Given the description of an element on the screen output the (x, y) to click on. 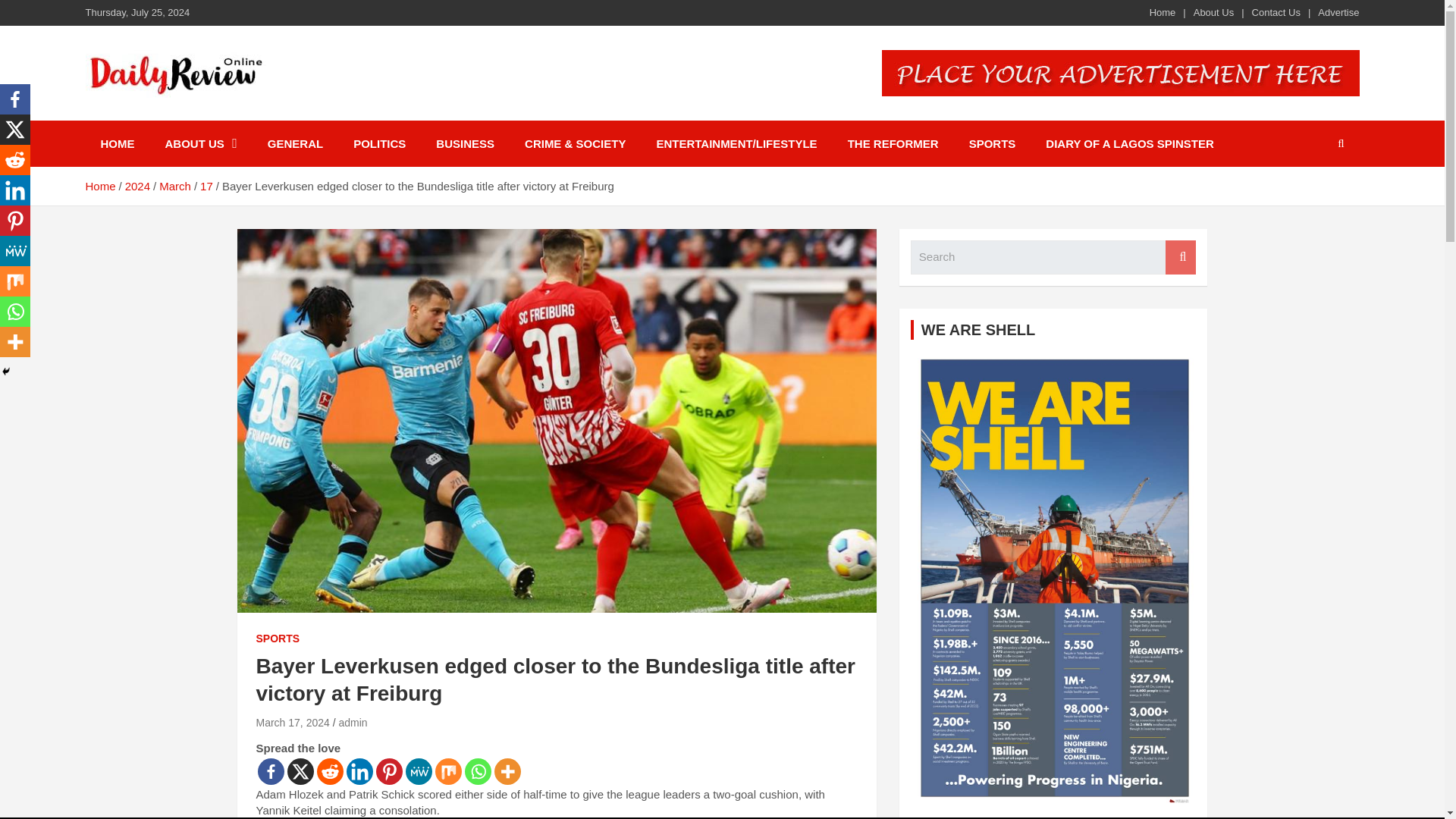
17 (206, 185)
DIARY OF A LAGOS SPINSTER (1129, 143)
GENERAL (294, 143)
SPORTS (991, 143)
Reddit (330, 771)
MeWe (417, 771)
Linkedin (359, 771)
2024 (137, 185)
admin (351, 722)
Linkedin (15, 190)
Pinterest (15, 220)
Pinterest (389, 771)
MeWe (15, 250)
X (15, 129)
